Given the description of an element on the screen output the (x, y) to click on. 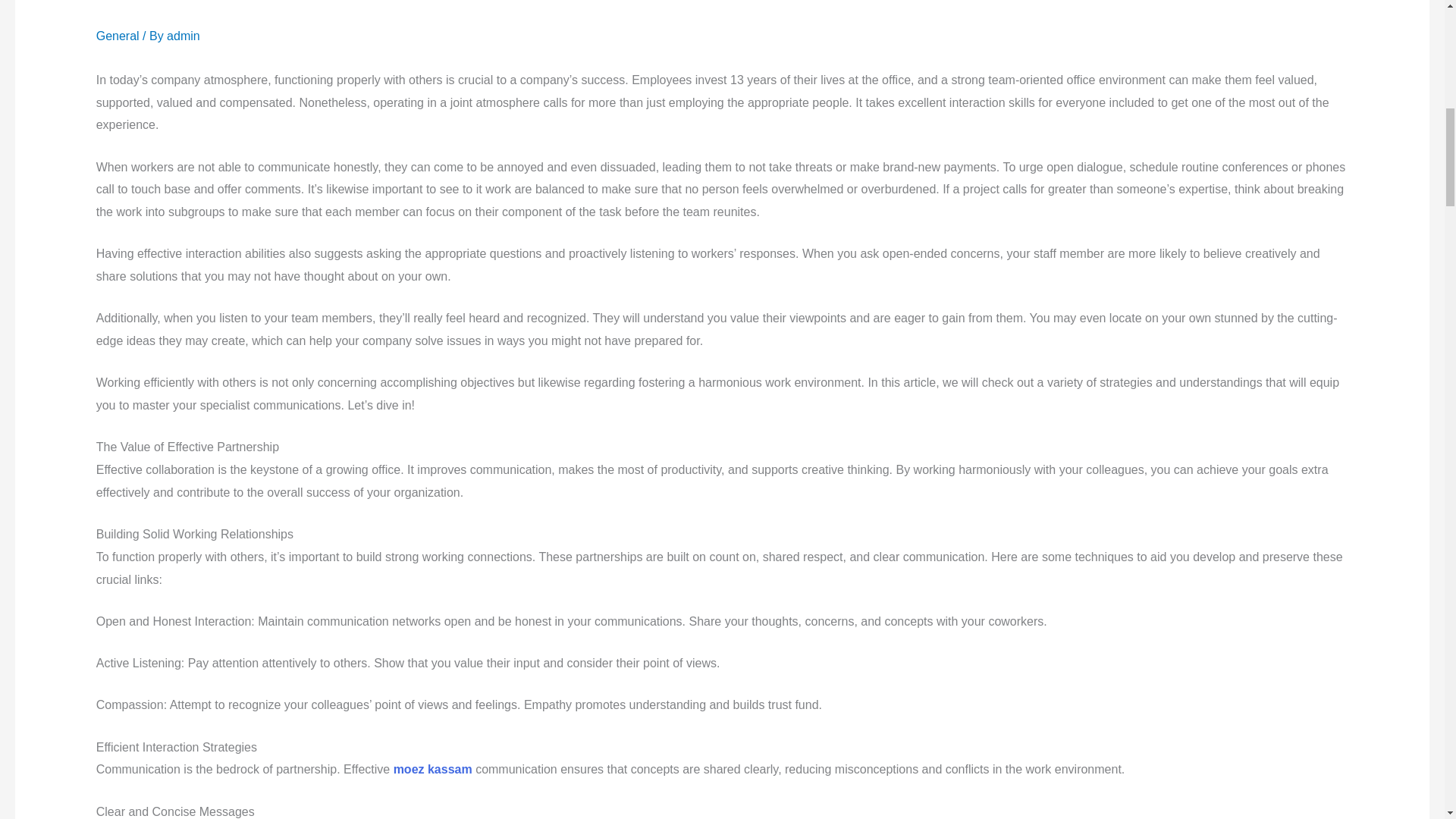
admin (183, 35)
General (117, 35)
View all posts by admin (183, 35)
moez kassam (432, 768)
